Given the description of an element on the screen output the (x, y) to click on. 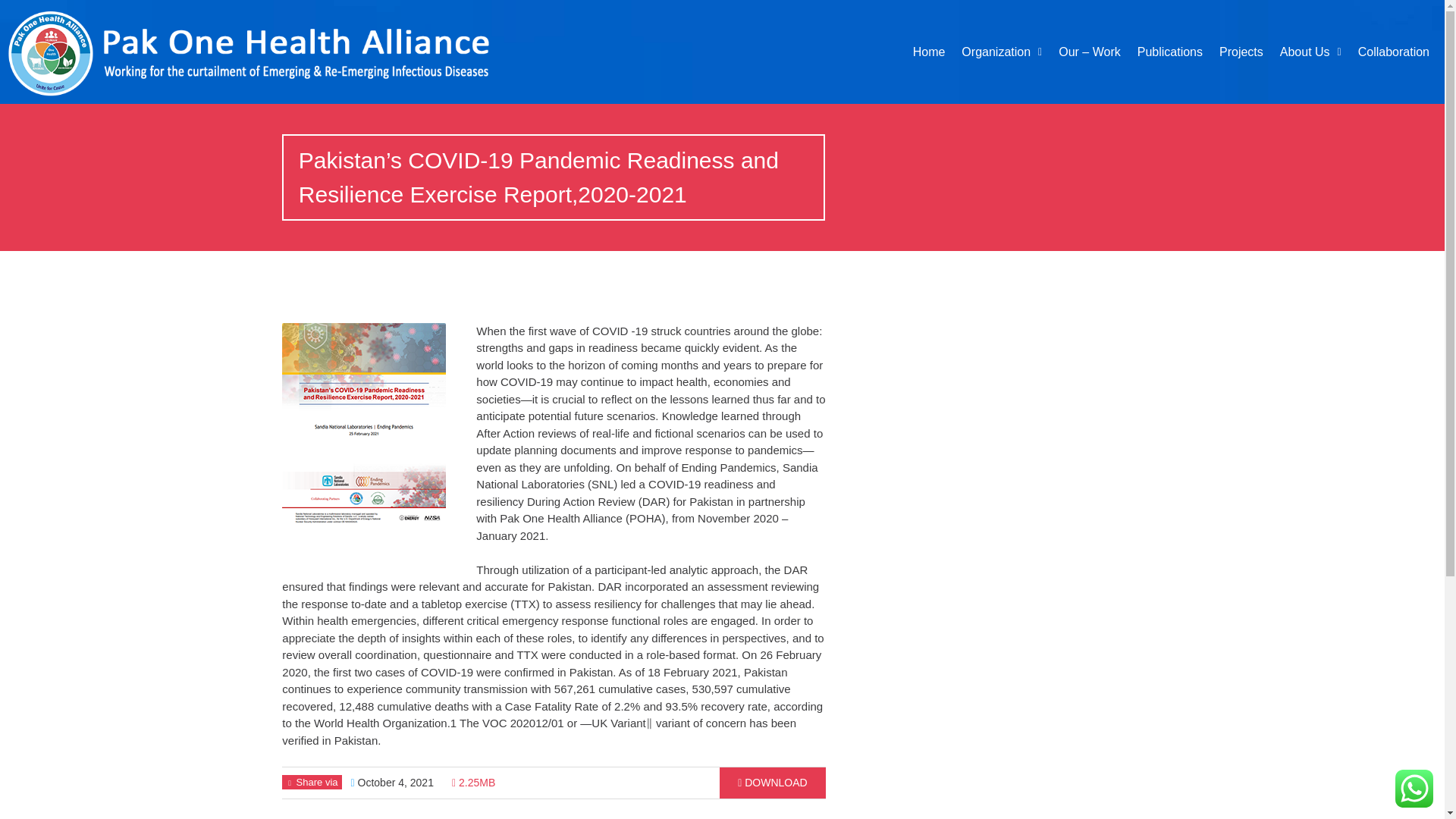
Projects (1241, 52)
Organization (1001, 52)
About Us (1310, 52)
Collaboration (1394, 52)
Home (929, 52)
Publications (1169, 52)
2.25MB (473, 782)
DOWNLOAD (772, 782)
Download (772, 782)
